Given the description of an element on the screen output the (x, y) to click on. 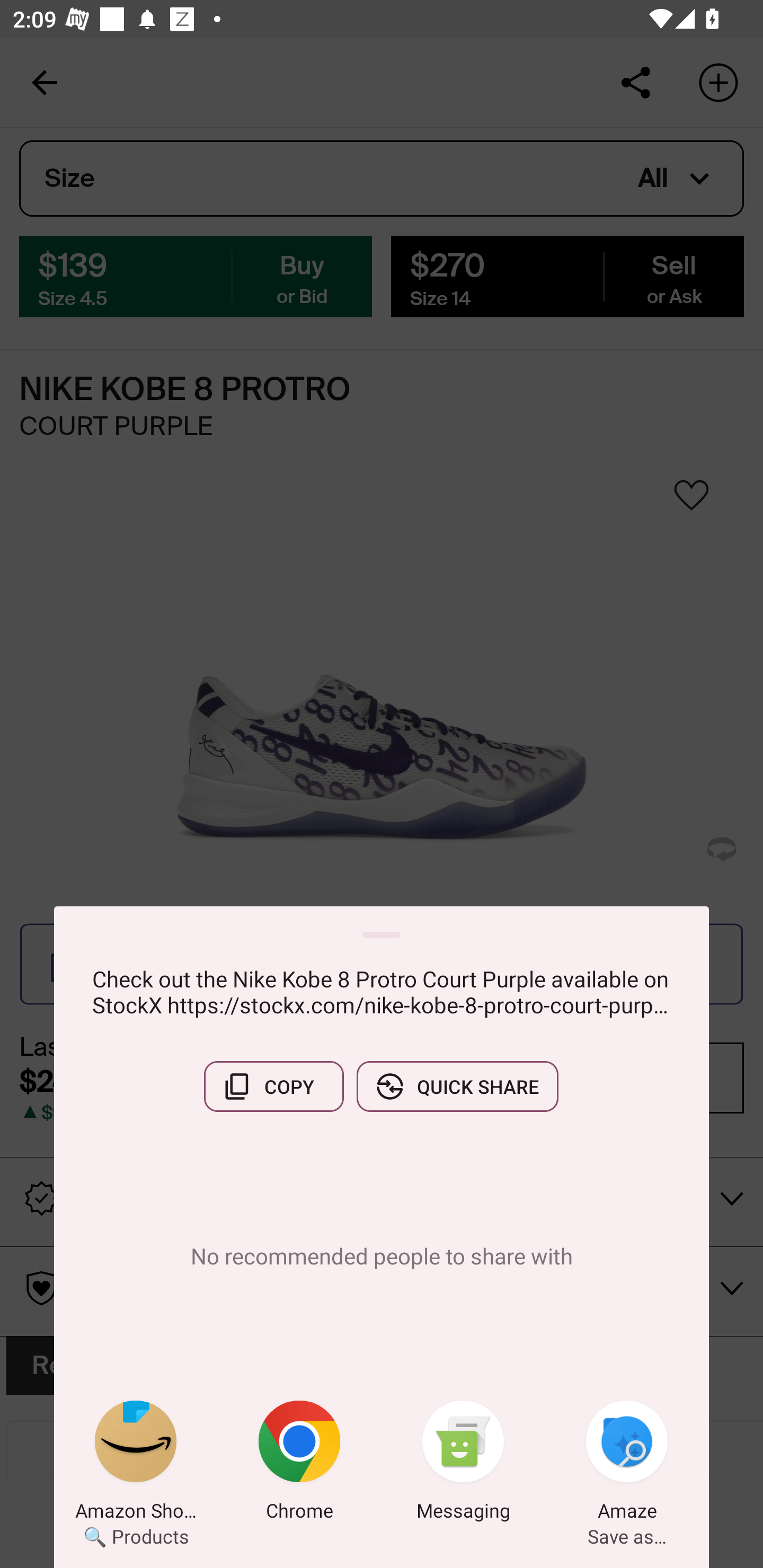
COPY (273, 1086)
QUICK SHARE (457, 1086)
Amazon Shopping 🔍 Products (135, 1463)
Chrome (299, 1463)
Messaging (463, 1463)
Amaze Save as… (626, 1463)
